Given the description of an element on the screen output the (x, y) to click on. 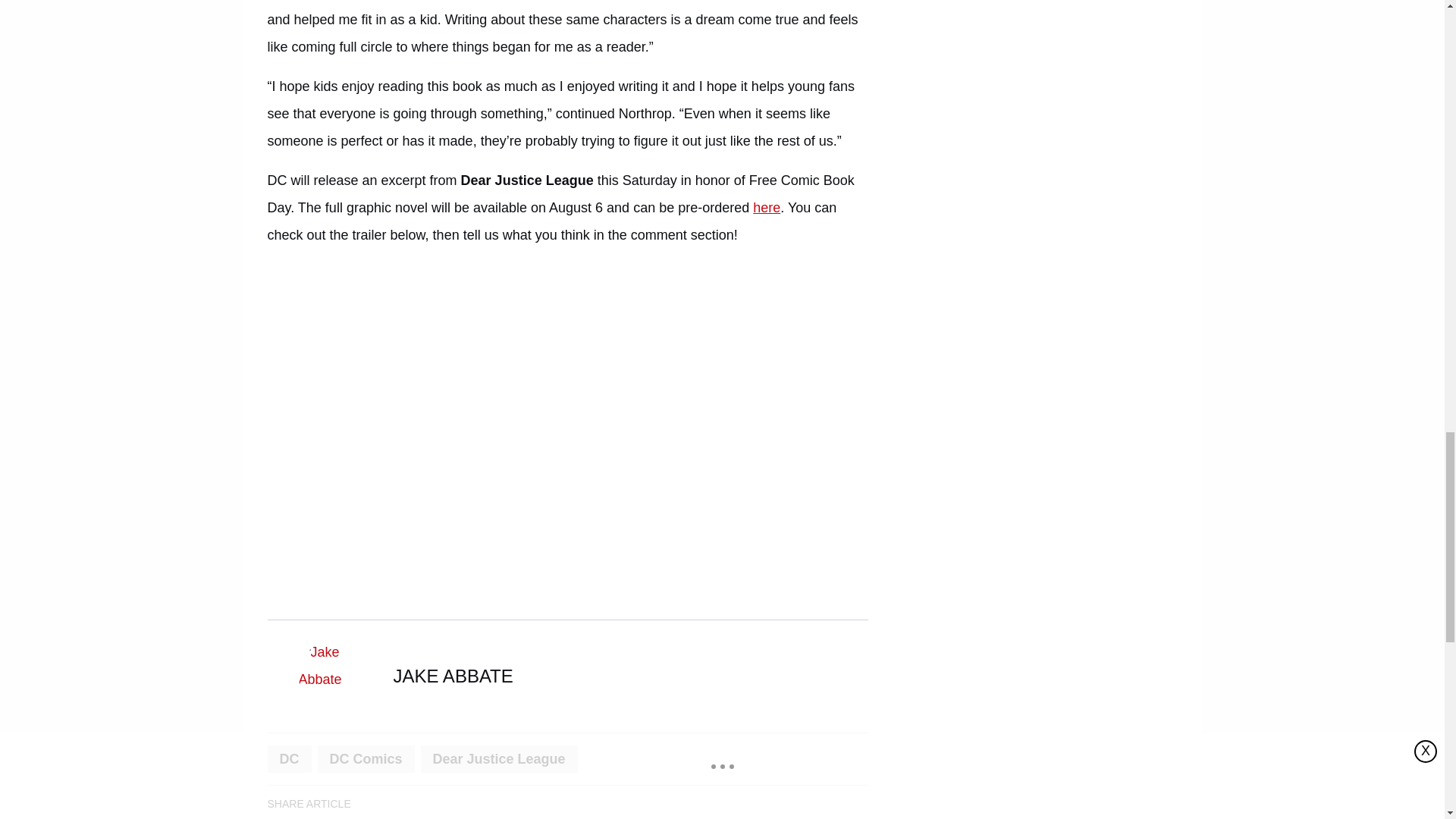
Pinterest (505, 803)
DC Comics (365, 759)
DC (288, 759)
Dear Justice League (499, 759)
Twitter (463, 803)
here (766, 207)
LinkedIn (420, 803)
JAKE ABBATE (452, 675)
Facebook (377, 803)
